Given the description of an element on the screen output the (x, y) to click on. 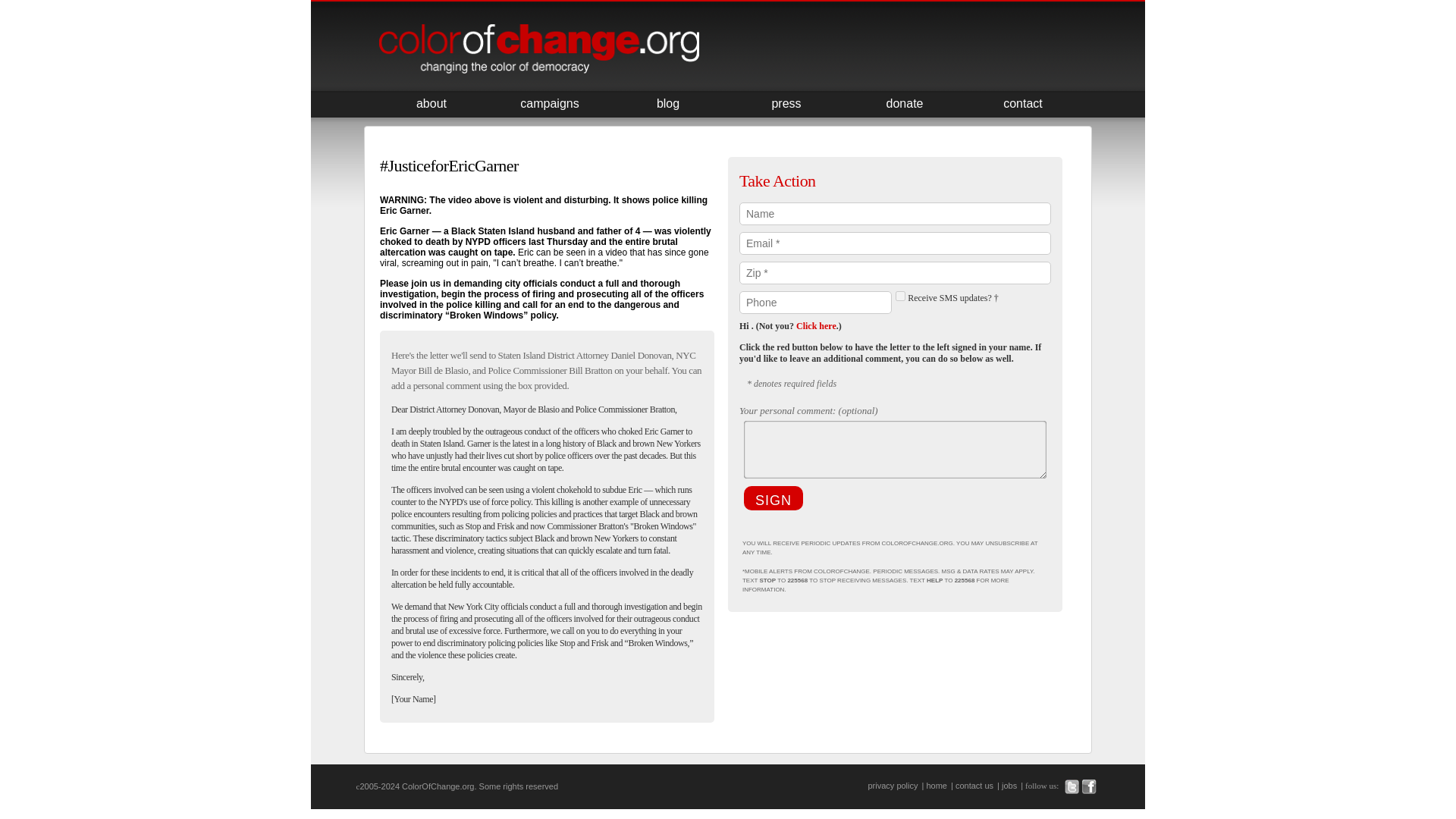
ColorOfChange.org changing the color of democracy (538, 50)
home (936, 785)
contact us (973, 785)
facebook (1088, 786)
blog (668, 103)
SIGN (773, 498)
twitter (1071, 786)
jobs (1008, 785)
contact (1022, 103)
campaigns (550, 103)
Click here (815, 326)
on (900, 296)
donate (903, 103)
about (430, 103)
press (786, 103)
